Given the description of an element on the screen output the (x, y) to click on. 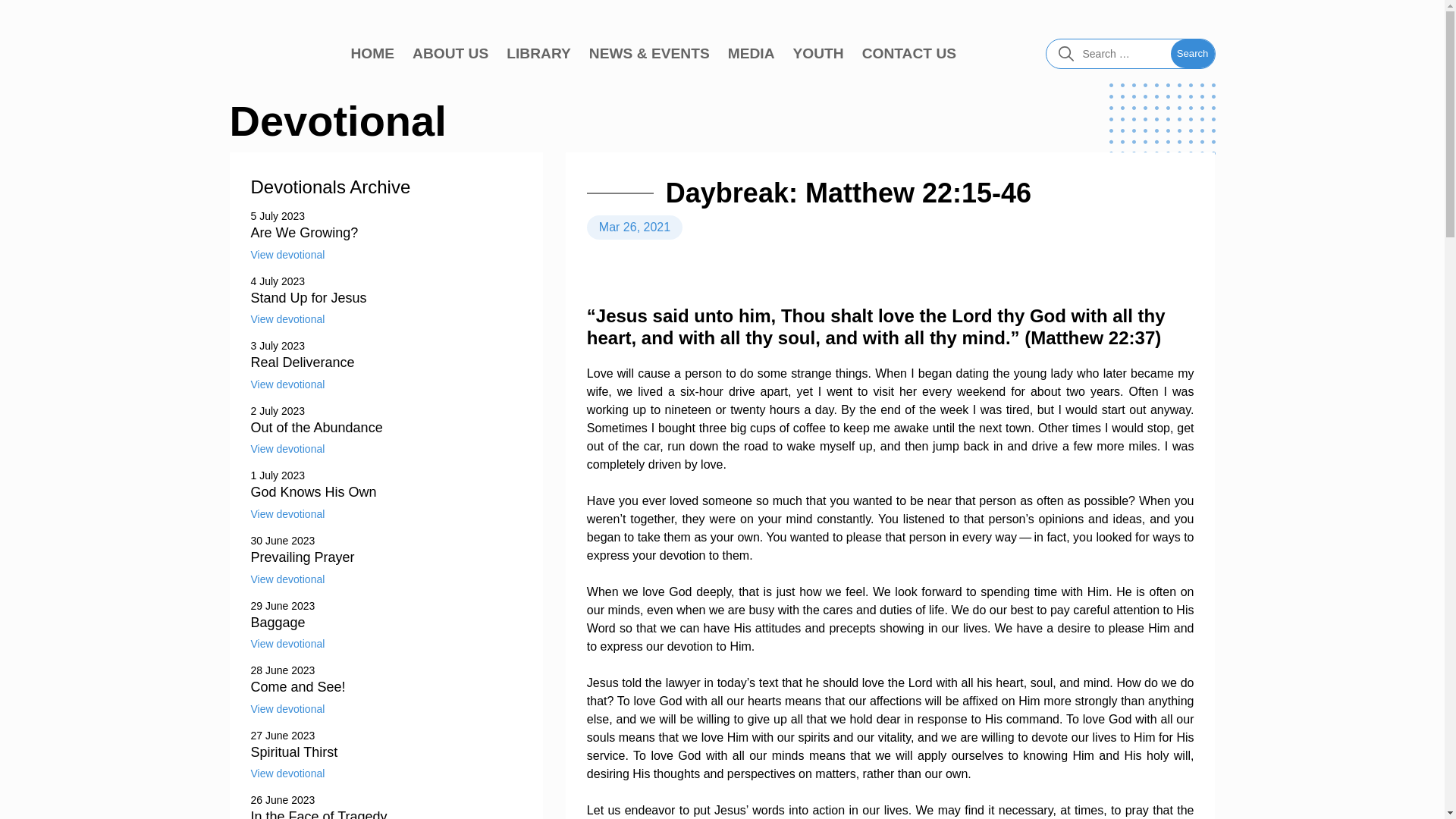
Search (1192, 53)
CONTACT US (908, 53)
Search (1192, 53)
HOME (372, 53)
MEDIA (751, 53)
ABOUT US (449, 53)
Search (1192, 53)
YOUTH (818, 53)
LIBRARY (538, 53)
